Given the description of an element on the screen output the (x, y) to click on. 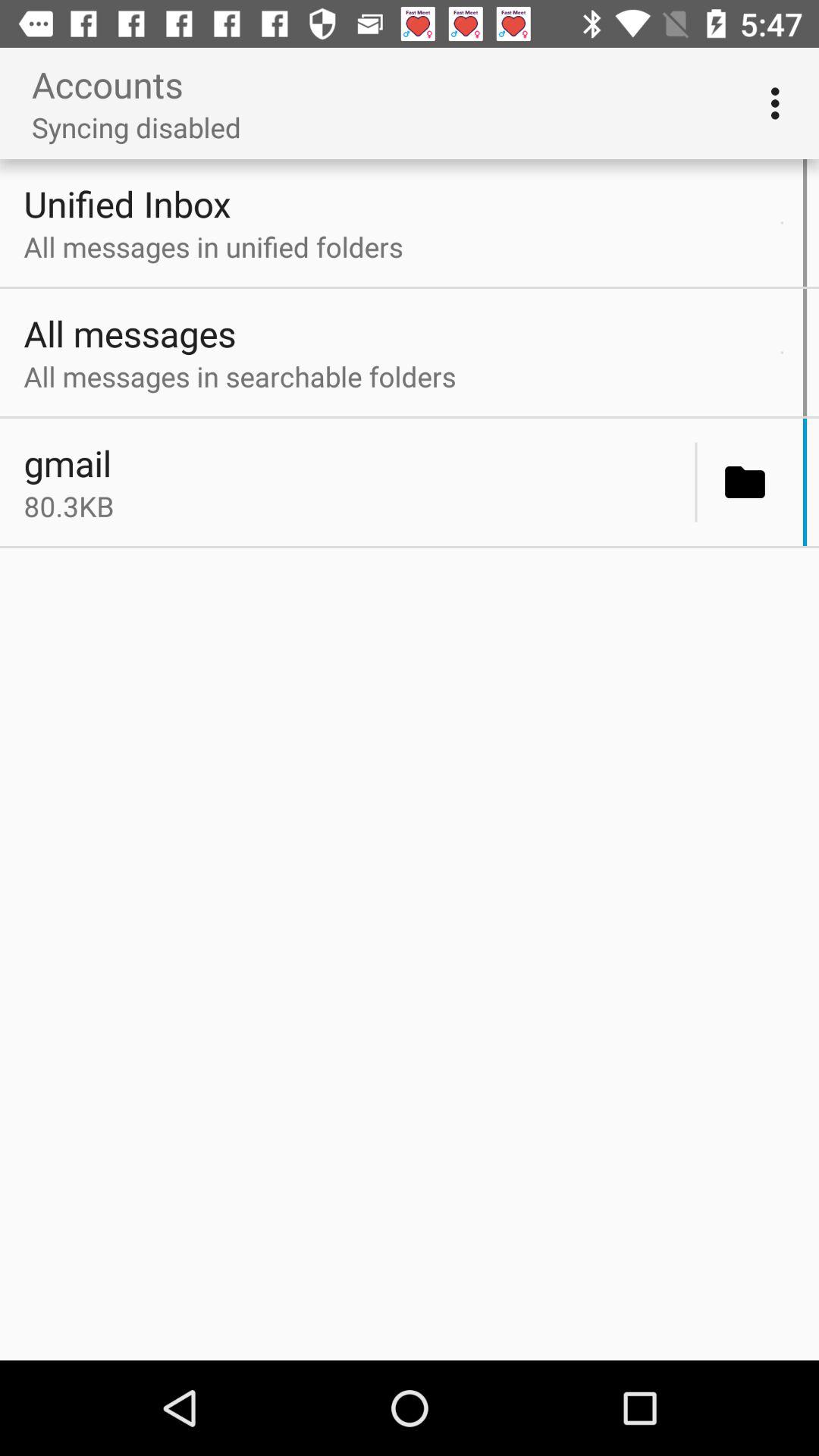
press icon above all messages in (397, 203)
